Given the description of an element on the screen output the (x, y) to click on. 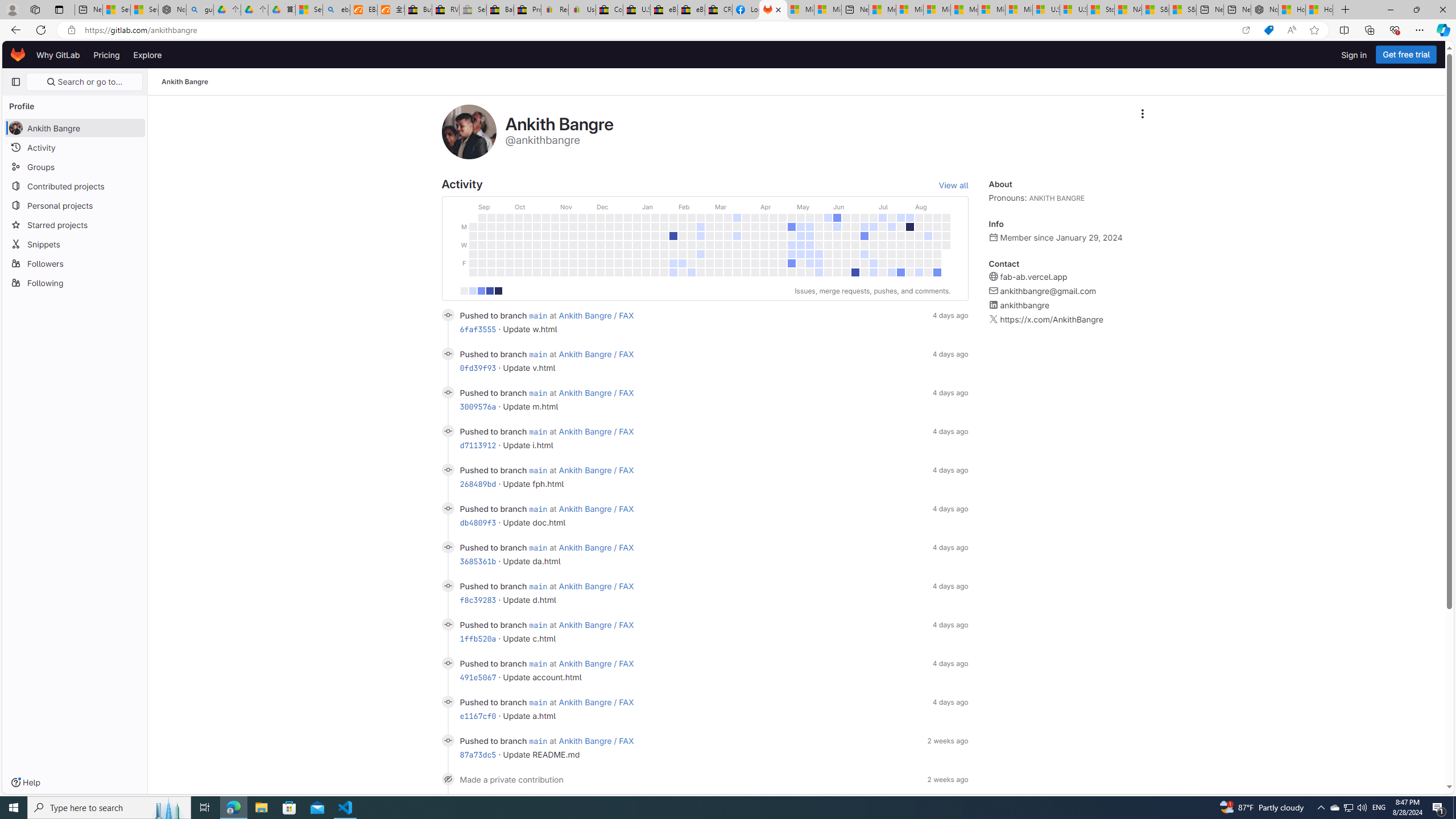
0fd39f93 (478, 367)
Sign in (1353, 54)
d7113912 (478, 445)
